Given the description of an element on the screen output the (x, y) to click on. 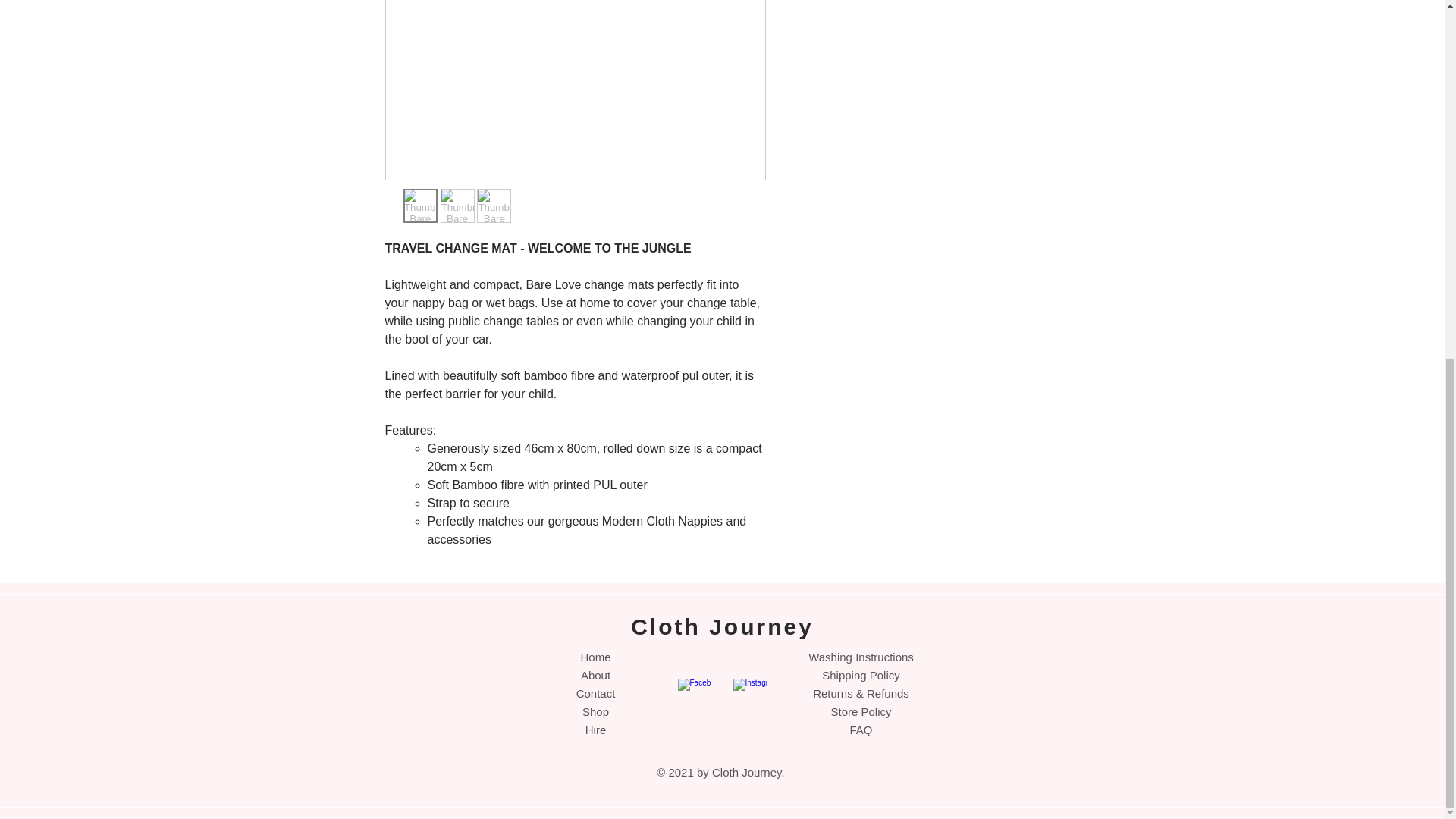
Cloth Journey (721, 626)
